Given the description of an element on the screen output the (x, y) to click on. 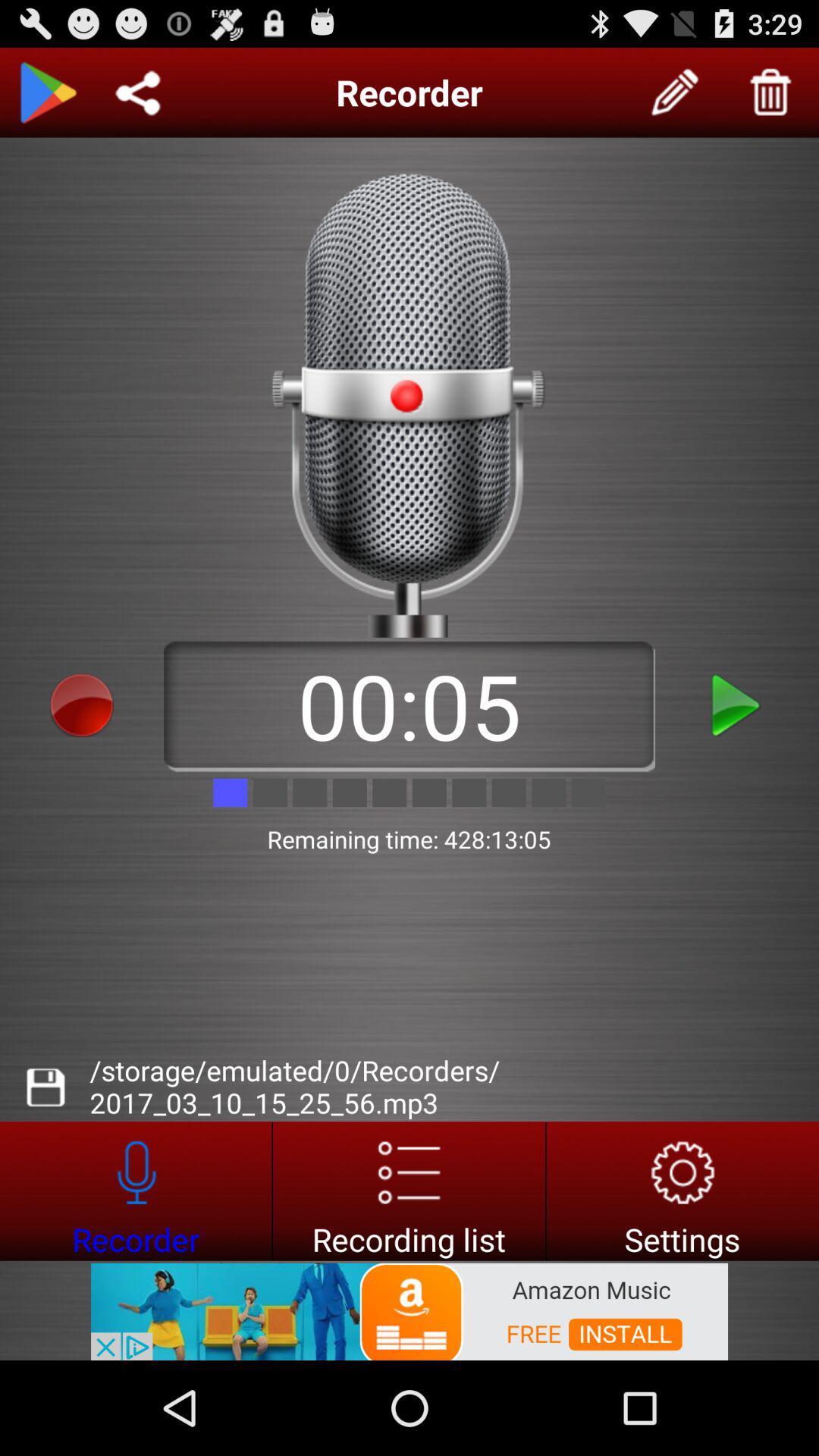
go to advertisement (135, 1190)
